Given the description of an element on the screen output the (x, y) to click on. 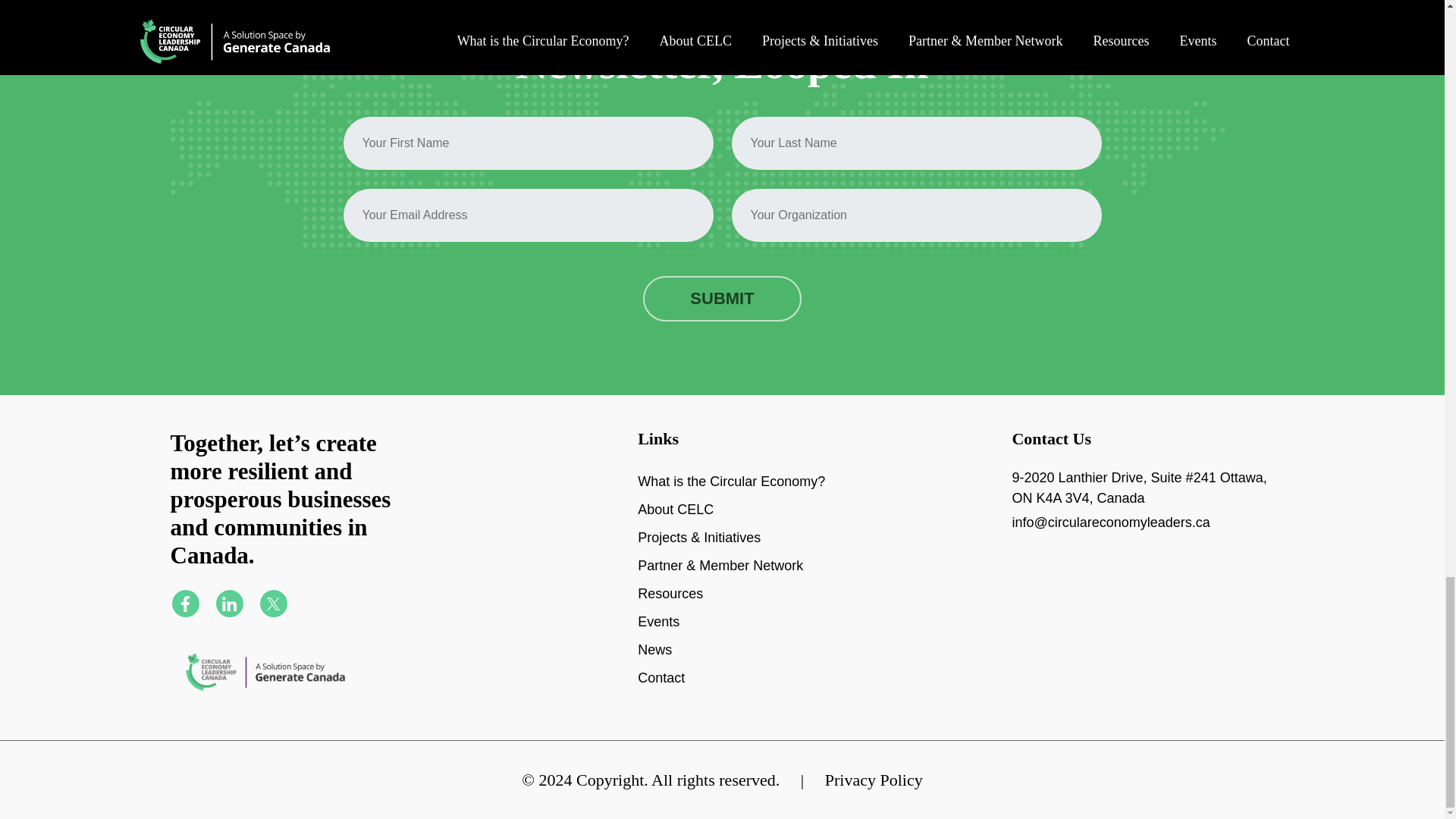
Submit (721, 336)
What is the Circular Economy? (731, 495)
Submit (721, 336)
Events (658, 635)
About CELC (675, 523)
Resources (670, 607)
News (654, 664)
Privacy Policy (874, 779)
Contact (660, 691)
